Given the description of an element on the screen output the (x, y) to click on. 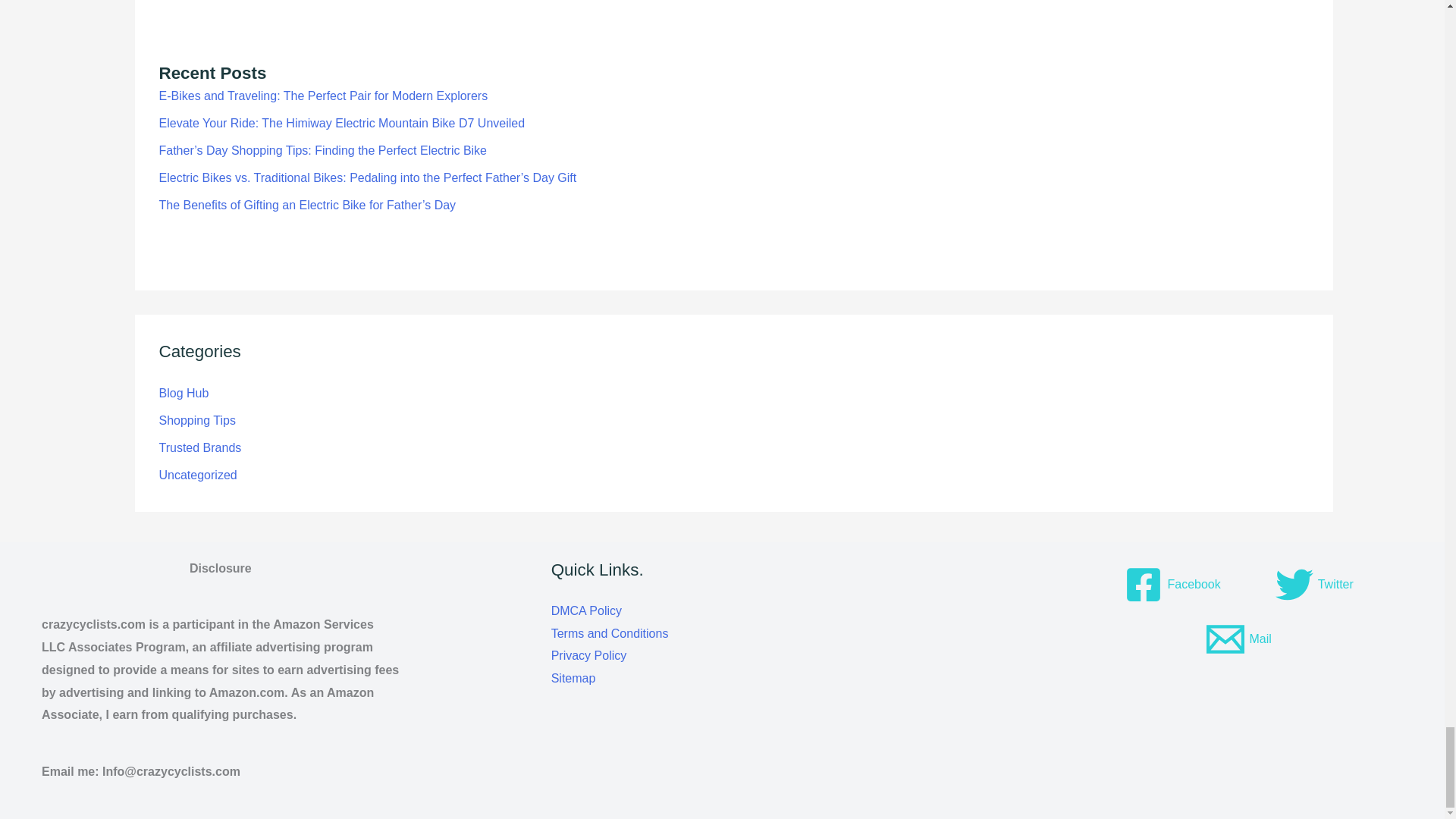
E-Bikes and Traveling: The Perfect Pair for Modern Explorers (322, 95)
